Given the description of an element on the screen output the (x, y) to click on. 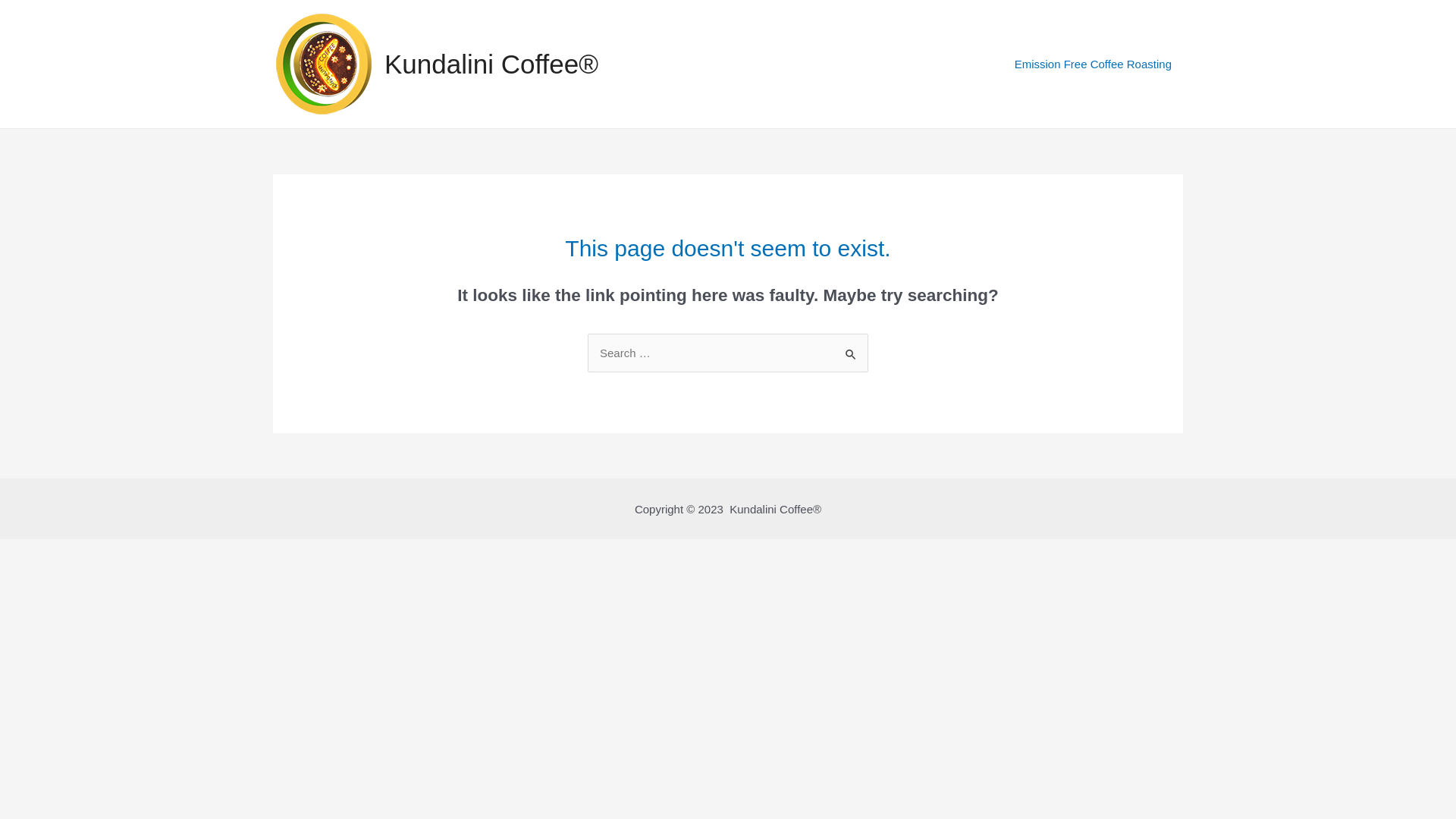
Emission Free Coffee Roasting Element type: text (1093, 64)
Search Element type: text (851, 348)
